Given the description of an element on the screen output the (x, y) to click on. 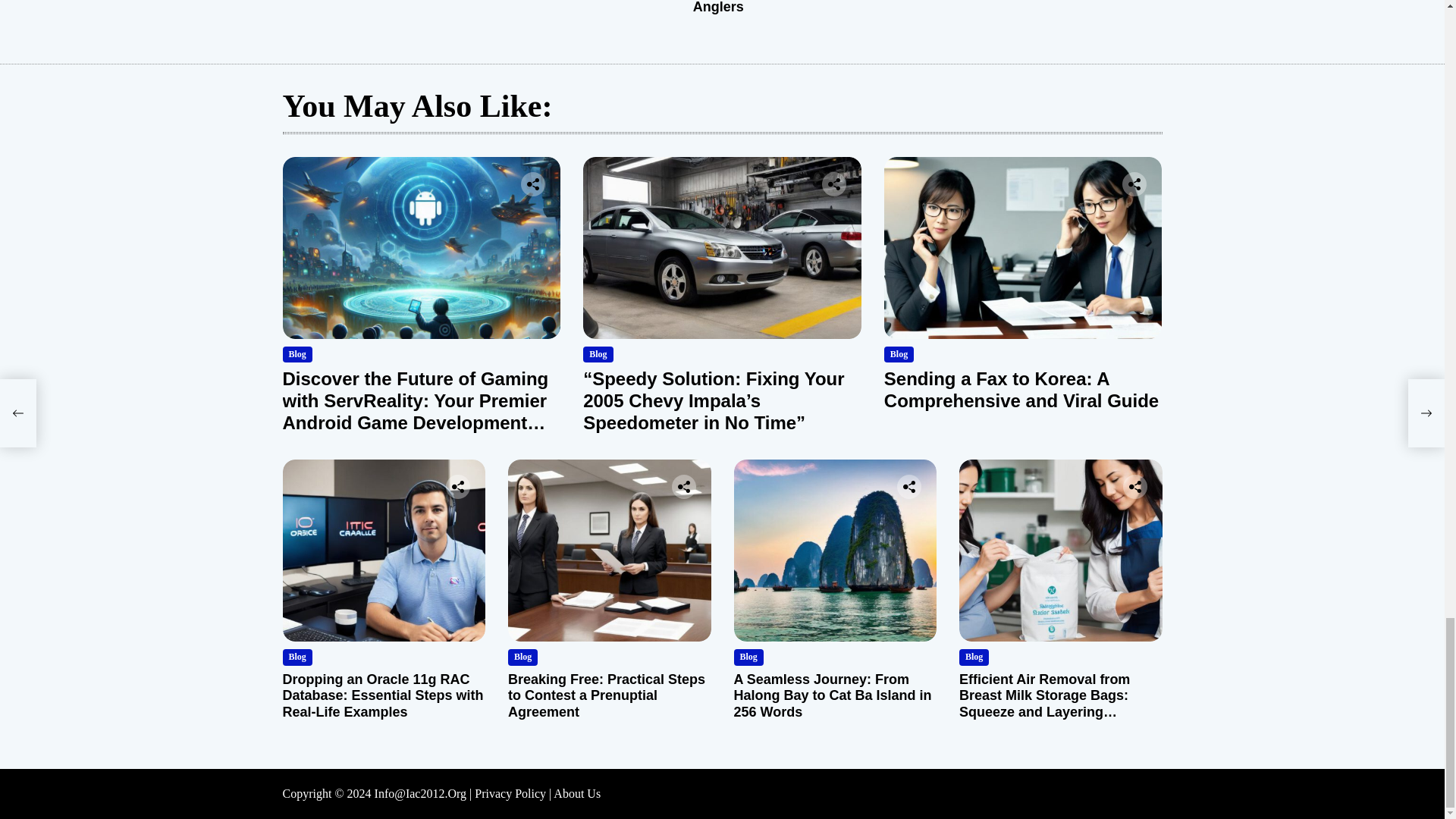
Mastering Multiplier Reel Casting: A Guide for Anglers (773, 7)
